Given the description of an element on the screen output the (x, y) to click on. 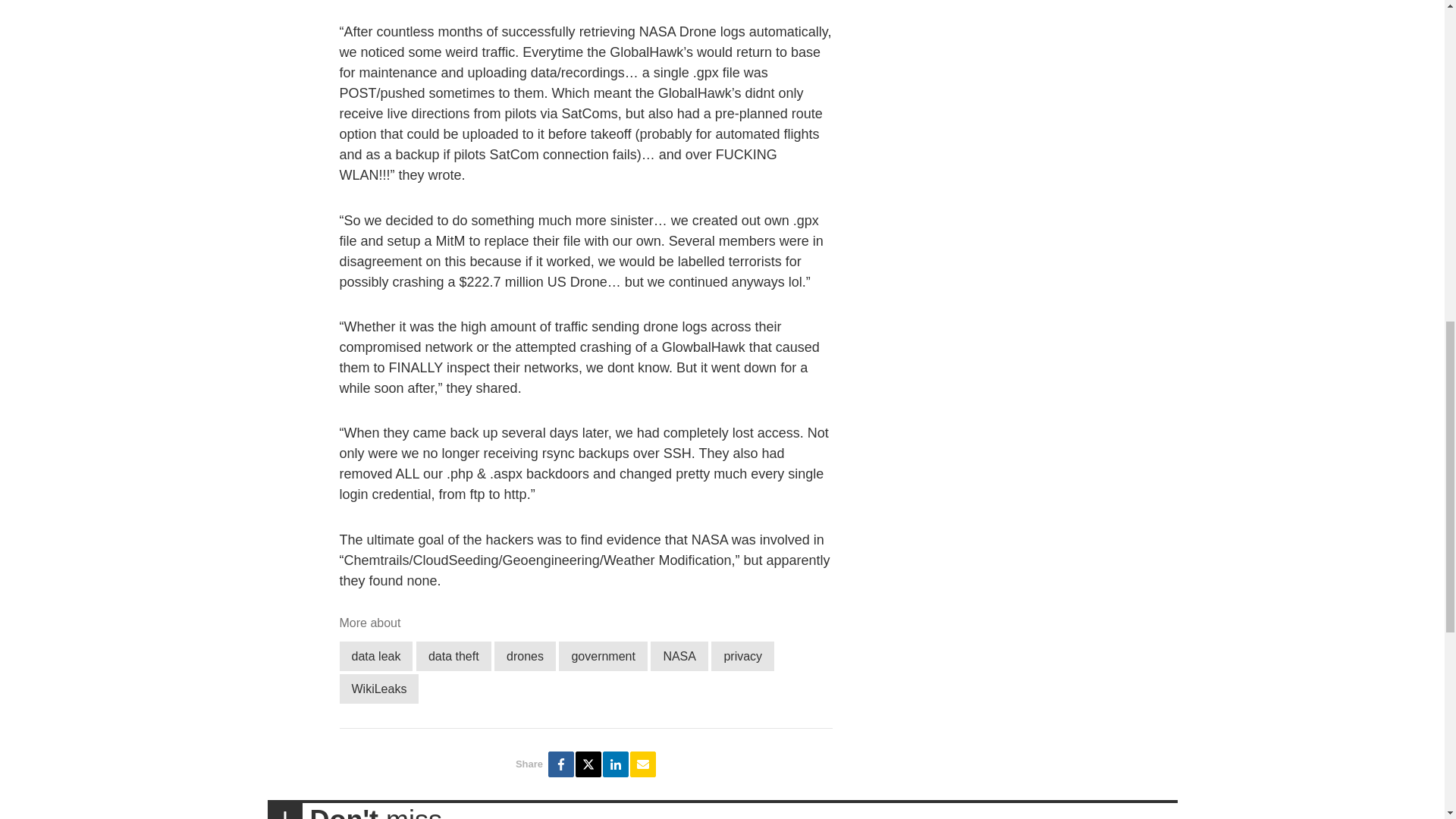
data theft (454, 655)
NASA (678, 655)
drones (525, 655)
data leak (376, 655)
privacy (742, 655)
WikiLeaks (379, 688)
drones (525, 655)
privacy (742, 655)
government (603, 655)
WikiLeaks (379, 688)
NASA (678, 655)
data theft (454, 655)
government (603, 655)
